Given the description of an element on the screen output the (x, y) to click on. 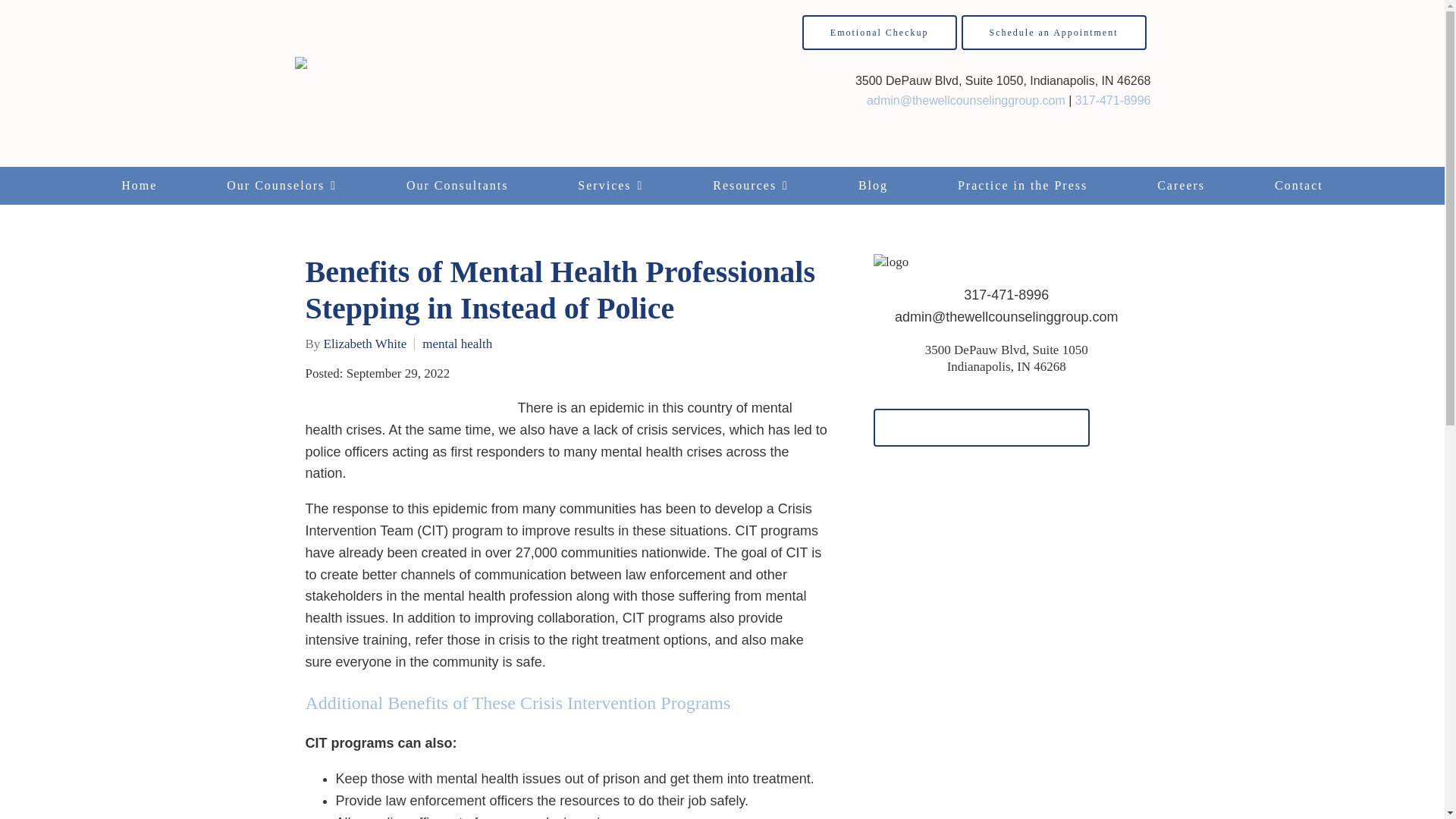
Contact (1299, 185)
Emotional Checkup (879, 32)
Resources (751, 185)
Our Counselors (281, 185)
Schedule an Appointment (1053, 32)
Services (610, 185)
Blog (873, 185)
Our Consultants (457, 185)
Home (138, 185)
Practice in the Press (1022, 185)
Careers (1181, 185)
